Given the description of an element on the screen output the (x, y) to click on. 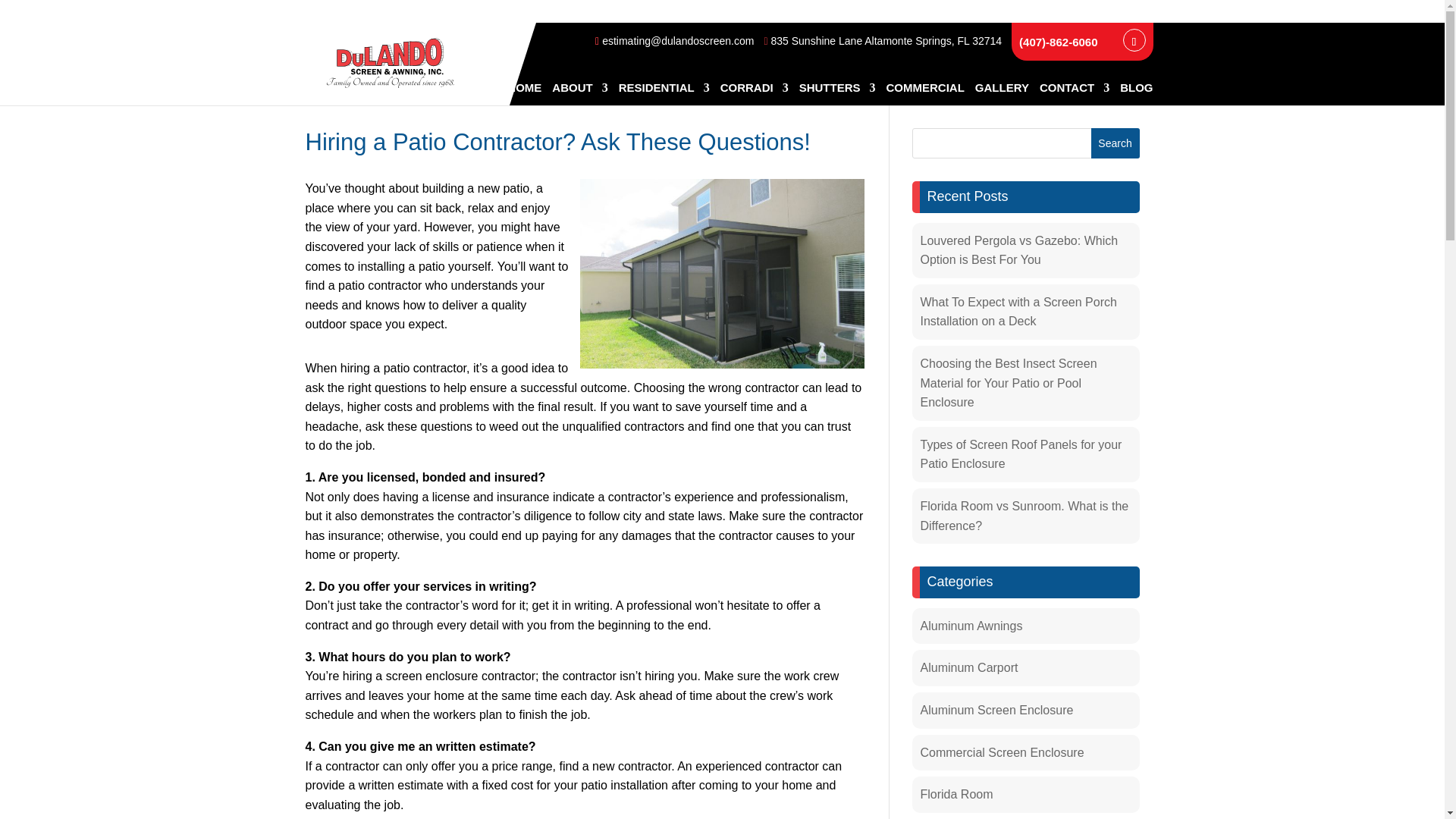
SHUTTERS (837, 93)
COMMERCIAL (924, 93)
HOME (523, 93)
BLOG (1136, 93)
CORRADI (754, 93)
RESIDENTIAL (664, 93)
Search (1115, 142)
GALLERY (1002, 93)
835 Sunshine Lane Altamonte Springs, FL 32714 (882, 40)
ABOUT (579, 93)
CONTACT (1074, 93)
